Given the description of an element on the screen output the (x, y) to click on. 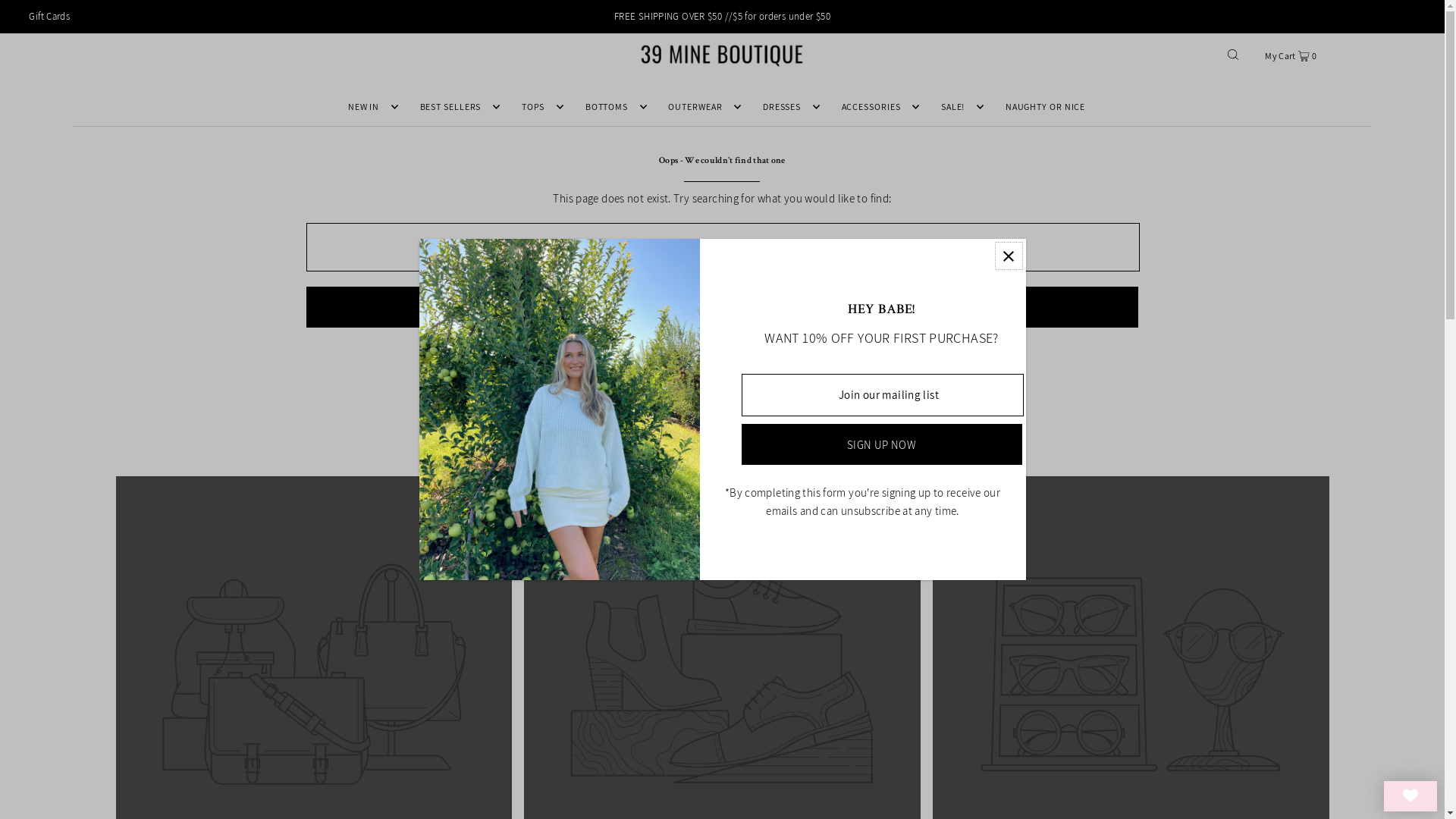
Close popup Element type: hover (1007, 255)
NEW IN Element type: text (369, 106)
OUTERWEAR Element type: text (700, 106)
SIGN UP NOW Element type: text (881, 443)
BOTTOMS Element type: text (611, 106)
Search Element type: text (722, 306)
Gift Cards Element type: text (48, 15)
TOPS Element type: text (539, 106)
ACCESSORIES Element type: text (876, 106)
BEST SELLERS Element type: text (456, 106)
DRESSES Element type: text (787, 106)
NAUGHTY OR NICE Element type: text (1045, 106)
MY WISHLIST Element type: text (1410, 796)
SALE! Element type: text (958, 106)
